Given the description of an element on the screen output the (x, y) to click on. 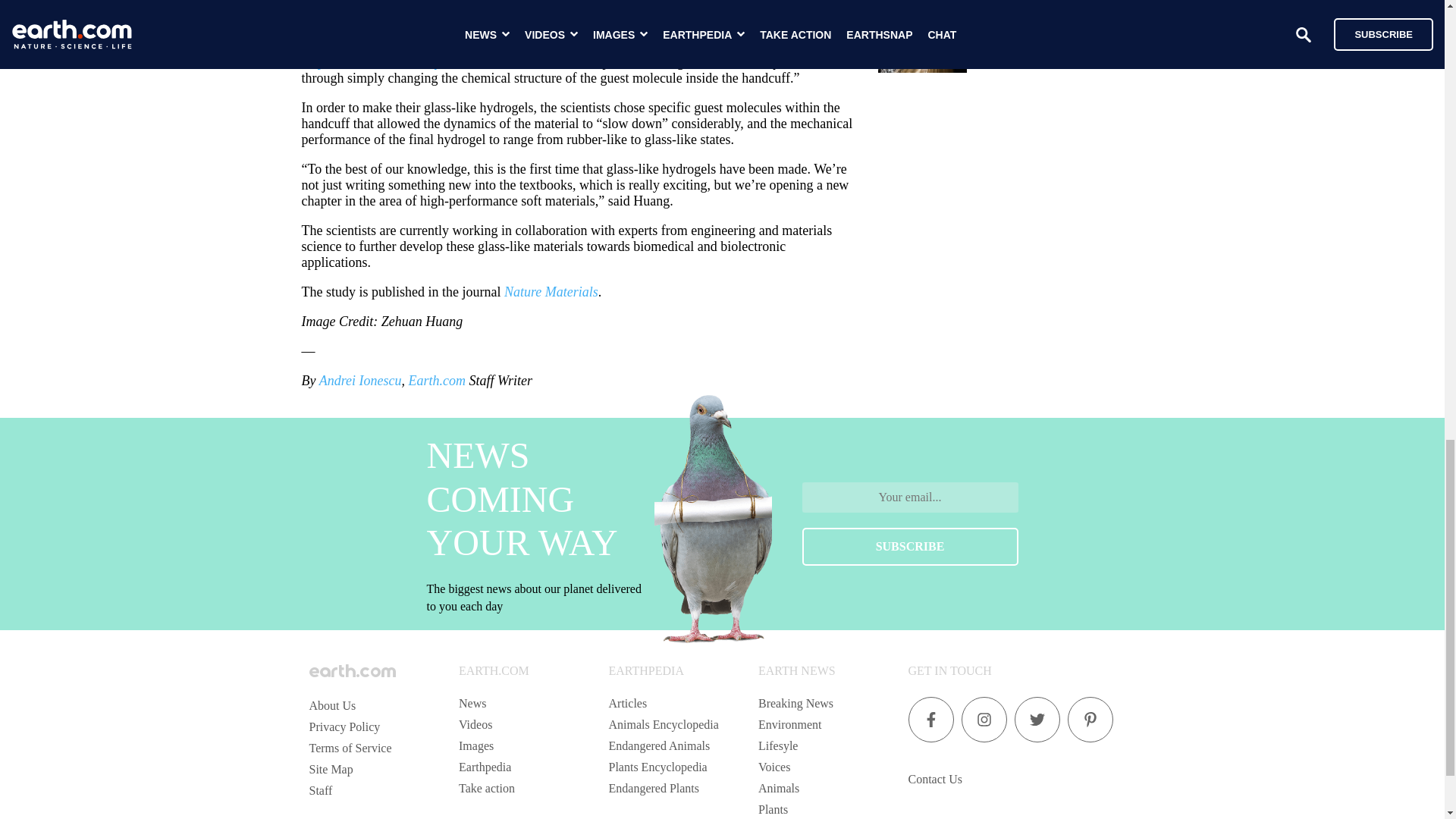
Earth.com (436, 380)
Nature Materials (550, 291)
Andrei Ionescu (359, 380)
Department of Chemistry (371, 61)
